Given the description of an element on the screen output the (x, y) to click on. 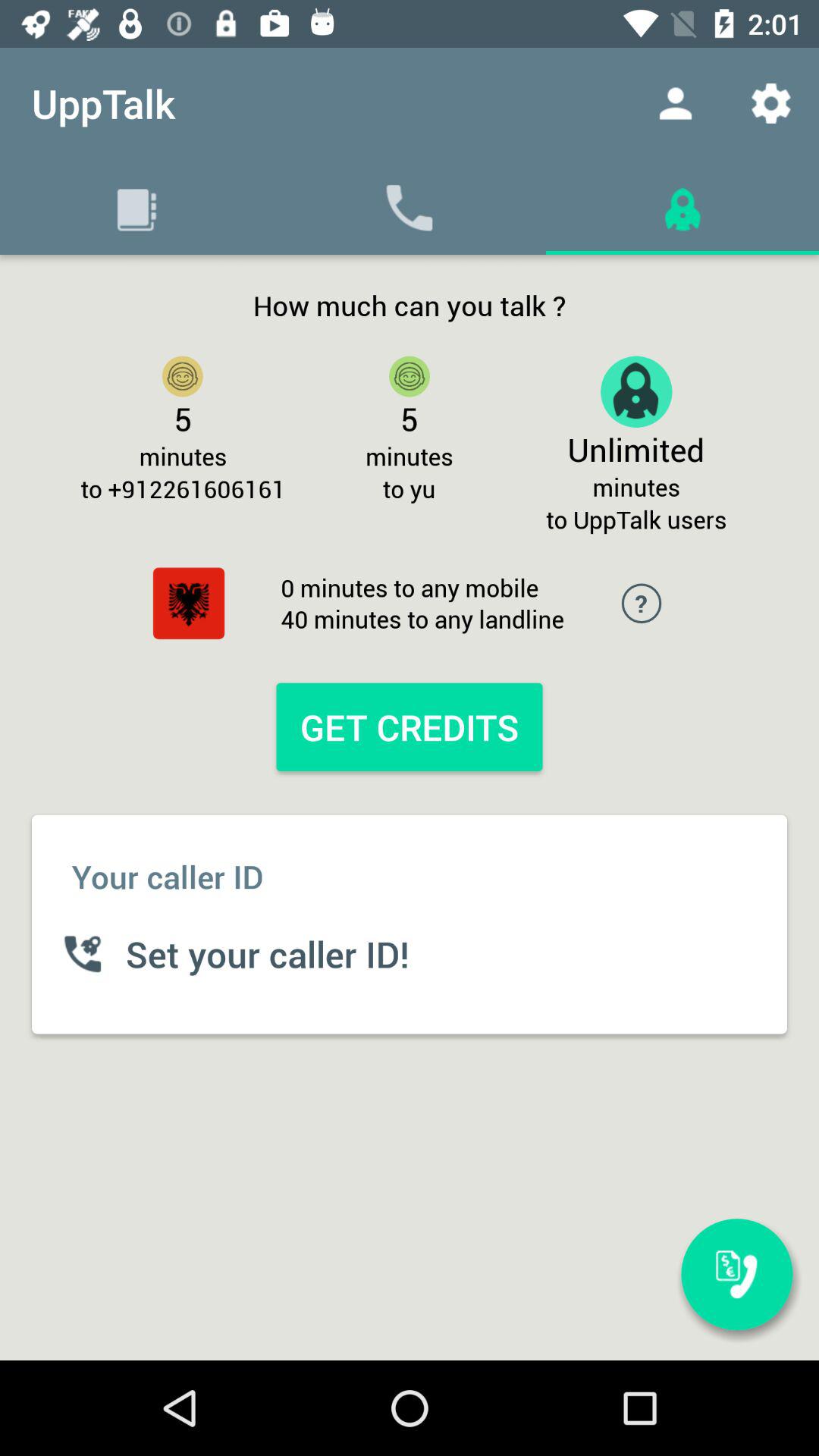
swipe to get credits icon (409, 727)
